Given the description of an element on the screen output the (x, y) to click on. 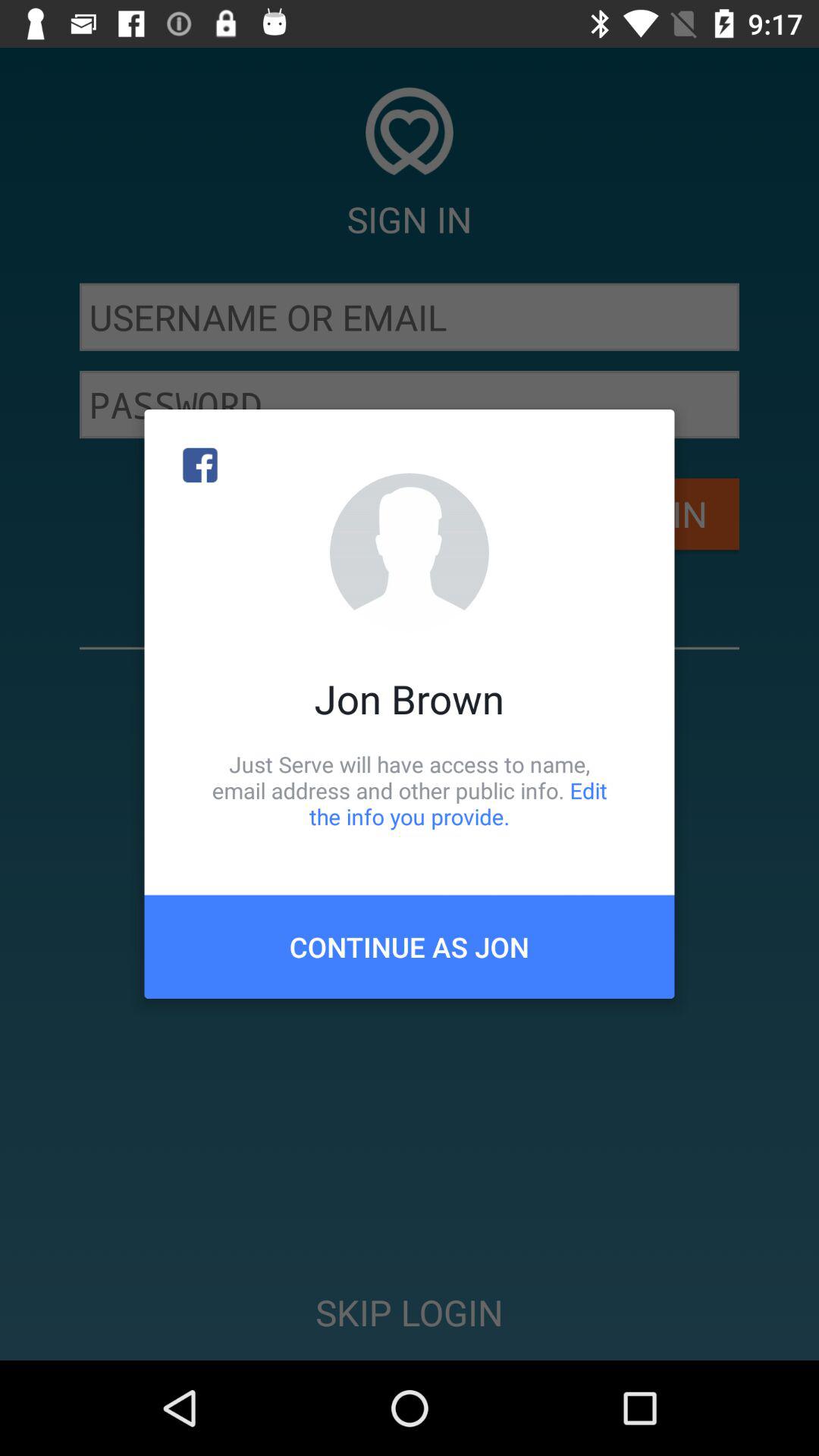
select the icon above the continue as jon icon (409, 790)
